Given the description of an element on the screen output the (x, y) to click on. 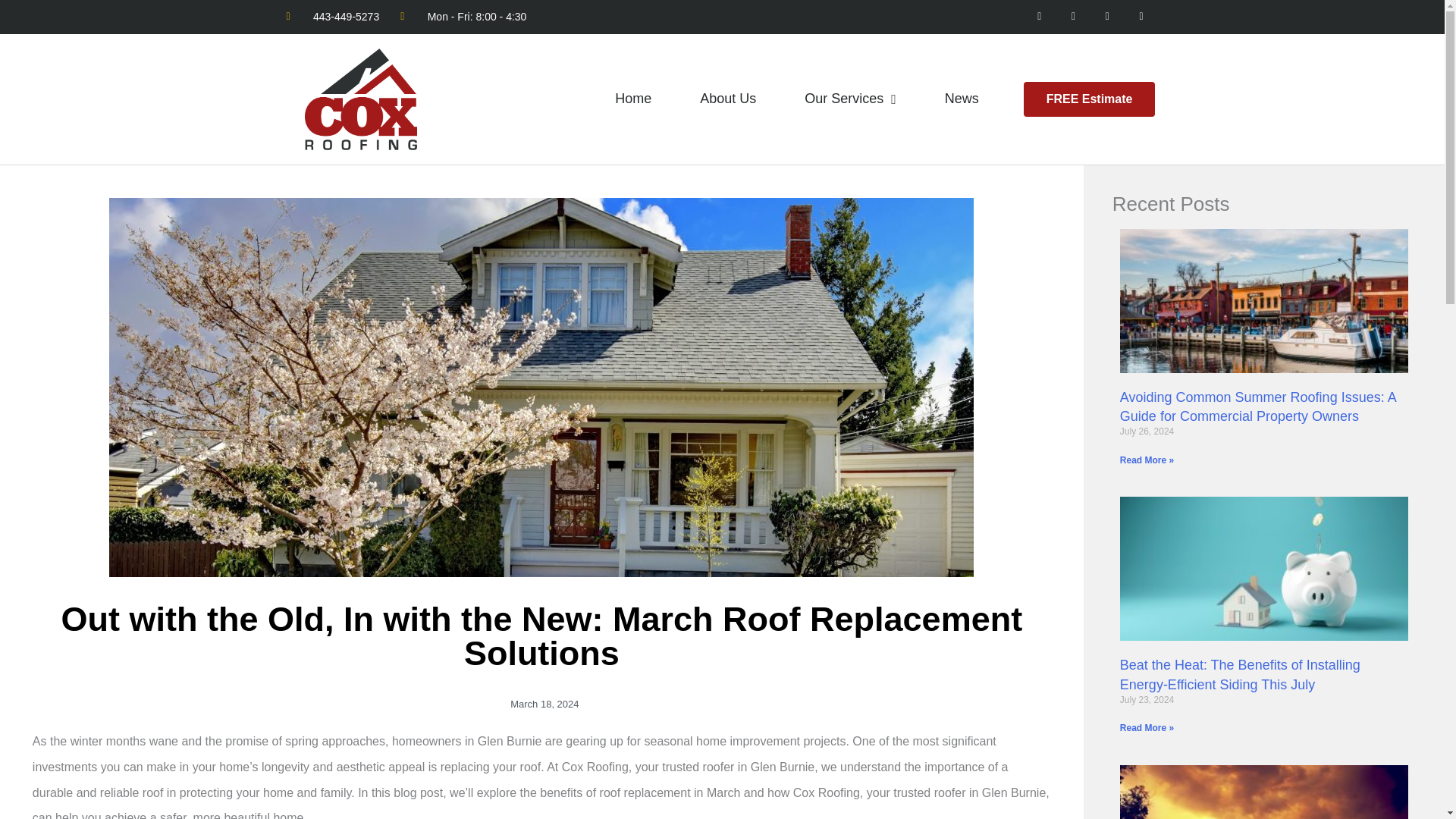
Facebook-f (1039, 17)
FREE Estimate (1089, 99)
Home (632, 98)
About Us (727, 98)
Our Services (850, 98)
Twitter (1107, 17)
News (962, 98)
Linkedin-in (1141, 17)
Instagram (1073, 17)
